Given the description of an element on the screen output the (x, y) to click on. 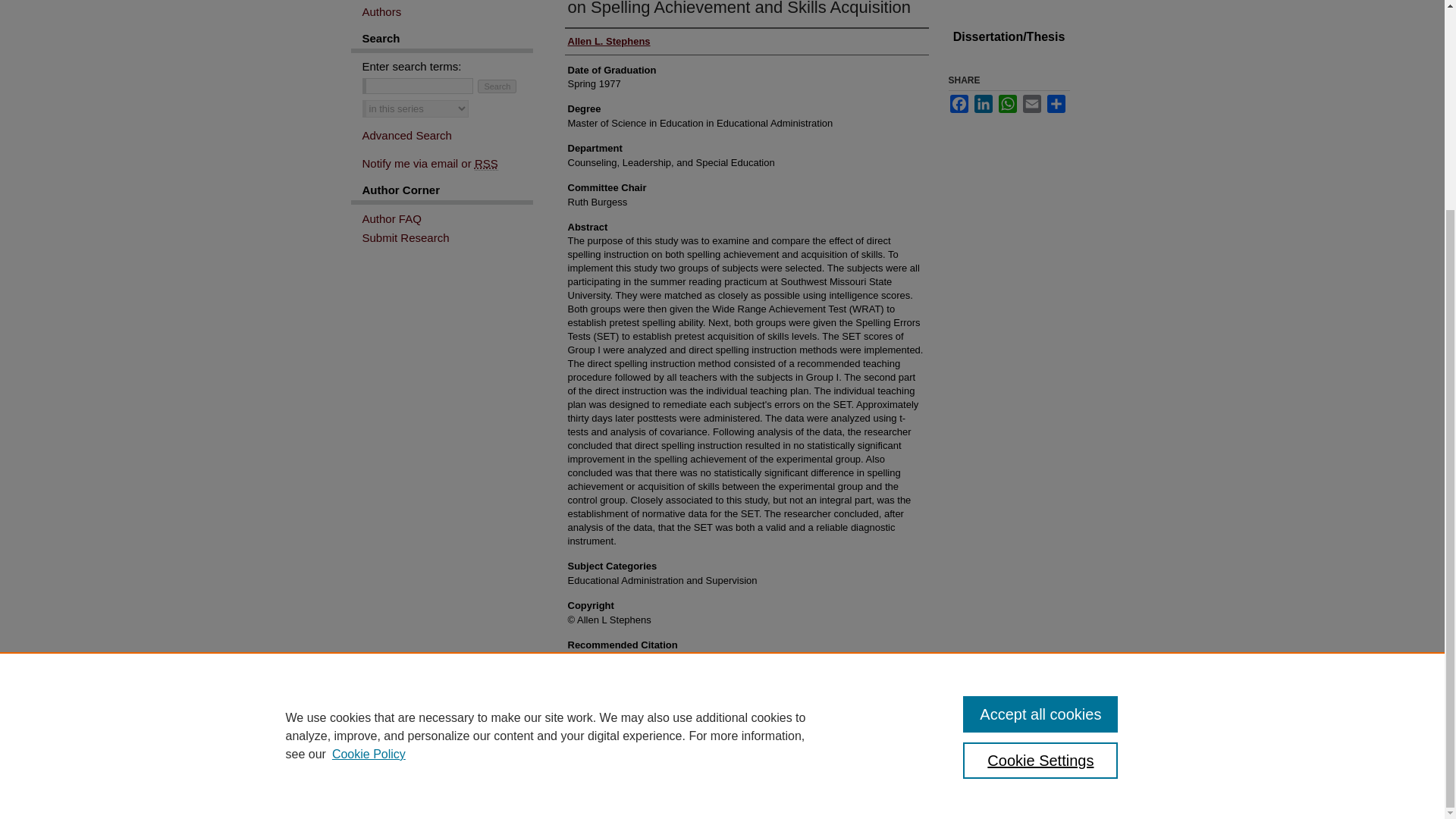
Search (496, 86)
Author FAQ (447, 218)
Search (496, 86)
Email or RSS Notifications (447, 163)
Accessibility Statement (612, 769)
Allen L. Stephens (608, 41)
Disclosures (765, 769)
LinkedIn (982, 104)
Authors (447, 11)
Advanced Search (406, 134)
Author FAQ (447, 218)
Browse by Author (447, 11)
Submit Research (447, 237)
Facebook (958, 104)
Email (1031, 104)
